Given the description of an element on the screen output the (x, y) to click on. 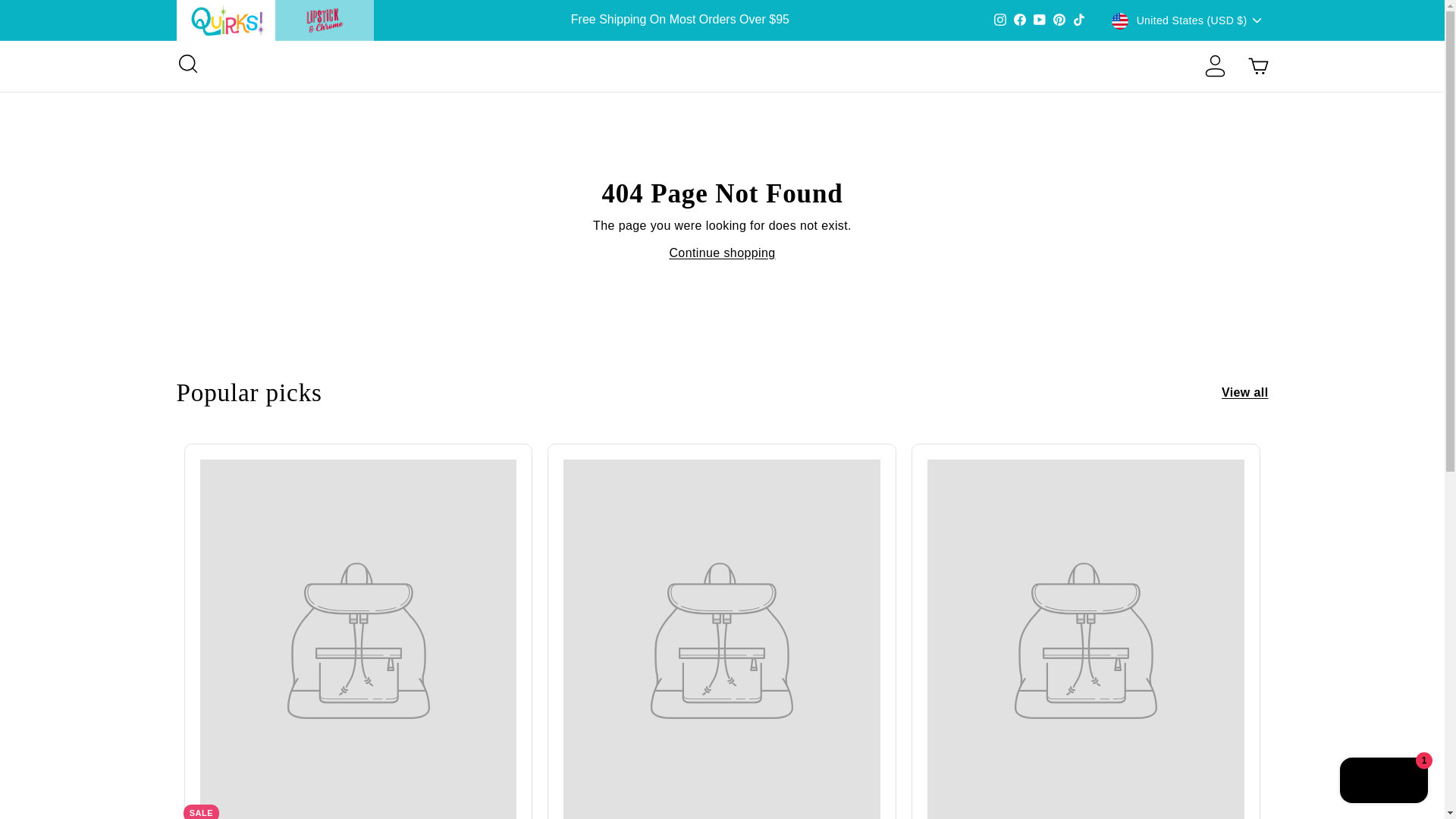
instagram (1000, 19)
